Given the description of an element on the screen output the (x, y) to click on. 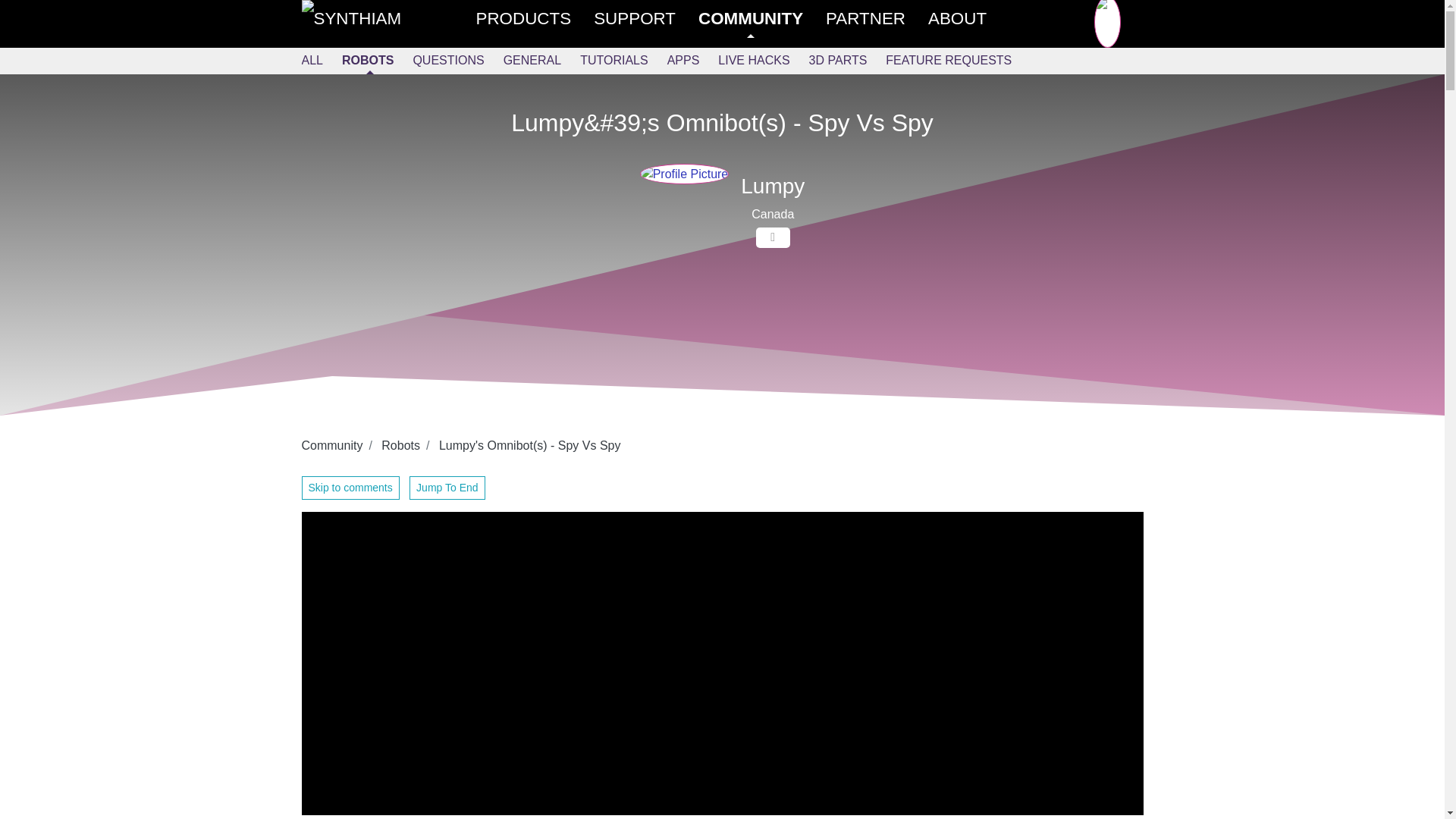
PRODUCTS (535, 18)
LIVE HACKS (762, 60)
Skip to comments (349, 487)
Jump To End (446, 487)
Community (331, 445)
COMMUNITY (761, 18)
3D PARTS (847, 60)
ALL (321, 60)
TUTORIALS (622, 60)
ABOUT (968, 18)
